Given the description of an element on the screen output the (x, y) to click on. 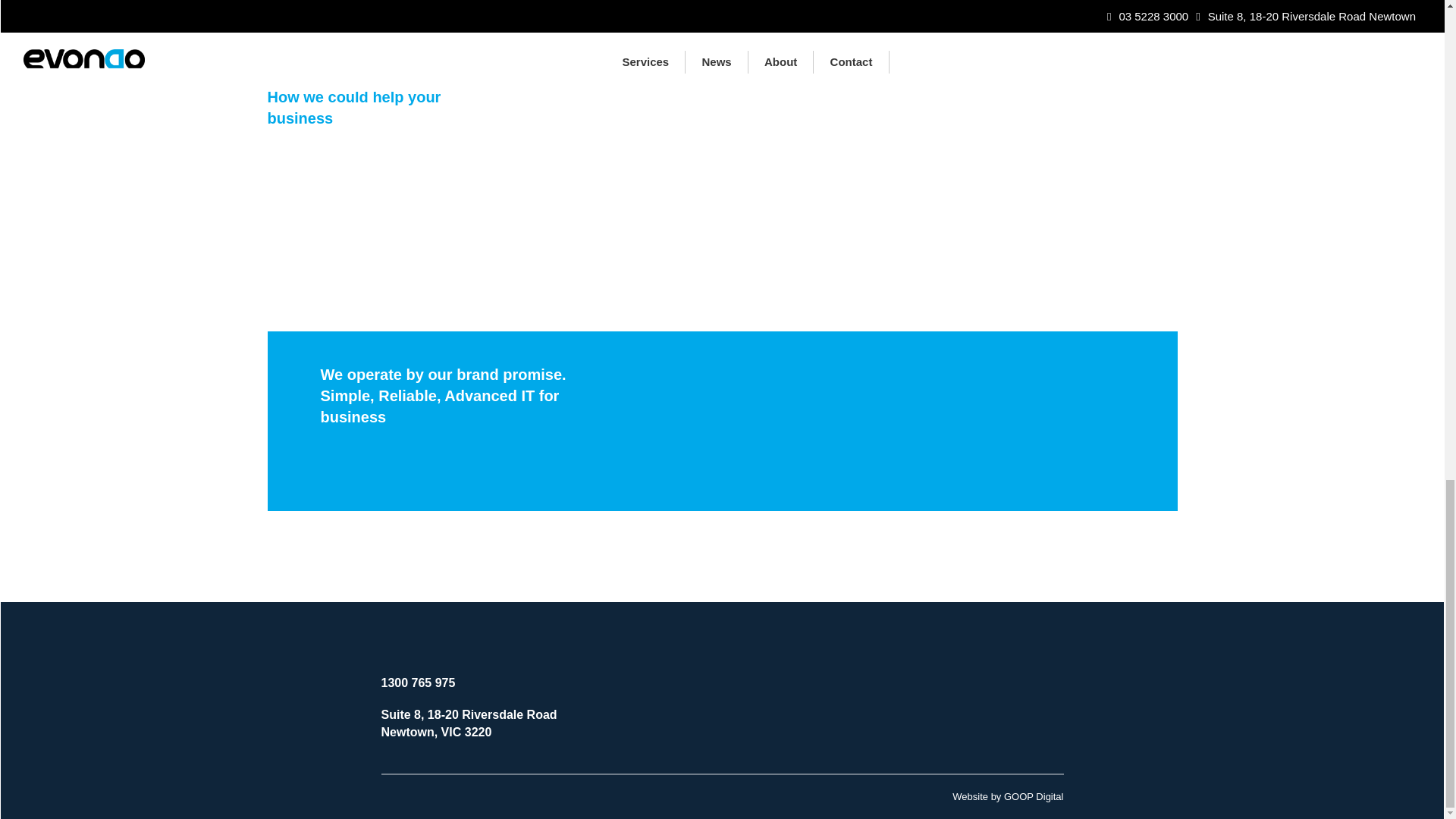
GOOP (1007, 796)
